Given the description of an element on the screen output the (x, y) to click on. 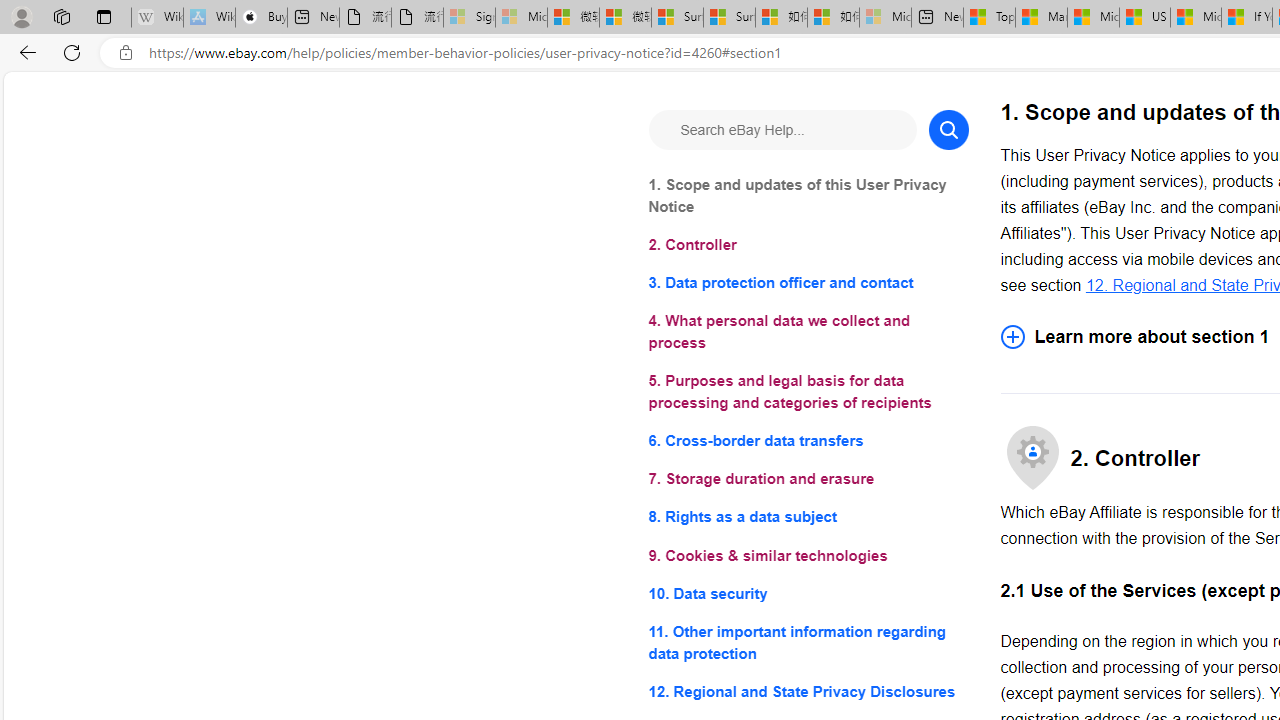
6. Cross-border data transfers (807, 440)
8. Rights as a data subject (807, 517)
2. Controller (807, 245)
9. Cookies & similar technologies (807, 555)
10. Data security (807, 592)
Marine life - MSN (1041, 17)
7. Storage duration and erasure (807, 479)
2. Controller (807, 245)
10. Data security (807, 592)
8. Rights as a data subject (807, 517)
